Given the description of an element on the screen output the (x, y) to click on. 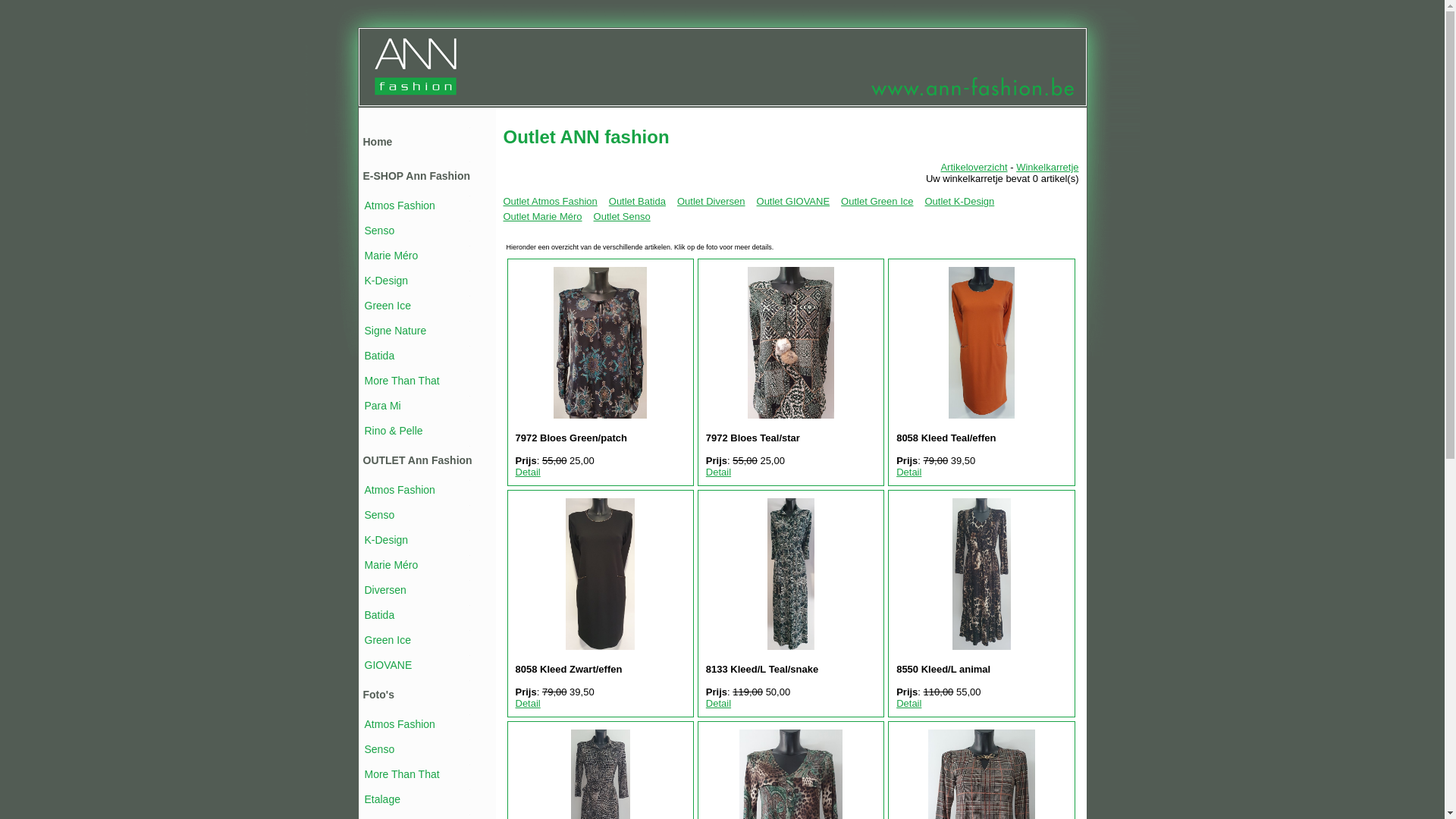
Senso Element type: text (379, 749)
GIOVANE Element type: text (387, 664)
Etalage Element type: text (381, 799)
K-Design Element type: text (385, 280)
Batida Element type: text (379, 614)
Atmos Fashion Element type: text (399, 724)
Detail Element type: text (908, 471)
Artikeloverzicht Element type: text (973, 166)
Signe Nature Element type: text (395, 330)
Outlet Atmos Fashion Element type: text (550, 201)
Detail Element type: text (718, 703)
Para Mi Element type: text (382, 405)
Detail Element type: text (908, 703)
Home Element type: text (377, 141)
Detail Element type: text (527, 703)
More Than That Element type: text (401, 380)
Batida Element type: text (379, 355)
K-Design Element type: text (385, 539)
Foto's Element type: text (377, 694)
Rino & Pelle Element type: text (393, 430)
Detail Element type: text (527, 471)
Outlet Diversen Element type: text (711, 201)
Atmos Fashion Element type: text (399, 489)
Diversen Element type: text (384, 589)
OUTLET Ann Fashion Element type: text (416, 460)
Outlet Green Ice Element type: text (876, 201)
Outlet GIOVANE Element type: text (793, 201)
Senso Element type: text (379, 230)
More Than That Element type: text (401, 774)
Green Ice Element type: text (387, 639)
Outlet Senso Element type: text (621, 216)
Outlet K-Design Element type: text (959, 201)
Detail Element type: text (718, 471)
E-SHOP Ann Fashion Element type: text (416, 175)
Winkelkarretje Element type: text (1047, 166)
Atmos Fashion Element type: text (399, 205)
Senso Element type: text (379, 514)
Green Ice Element type: text (387, 305)
Outlet Batida Element type: text (636, 201)
